Given the description of an element on the screen output the (x, y) to click on. 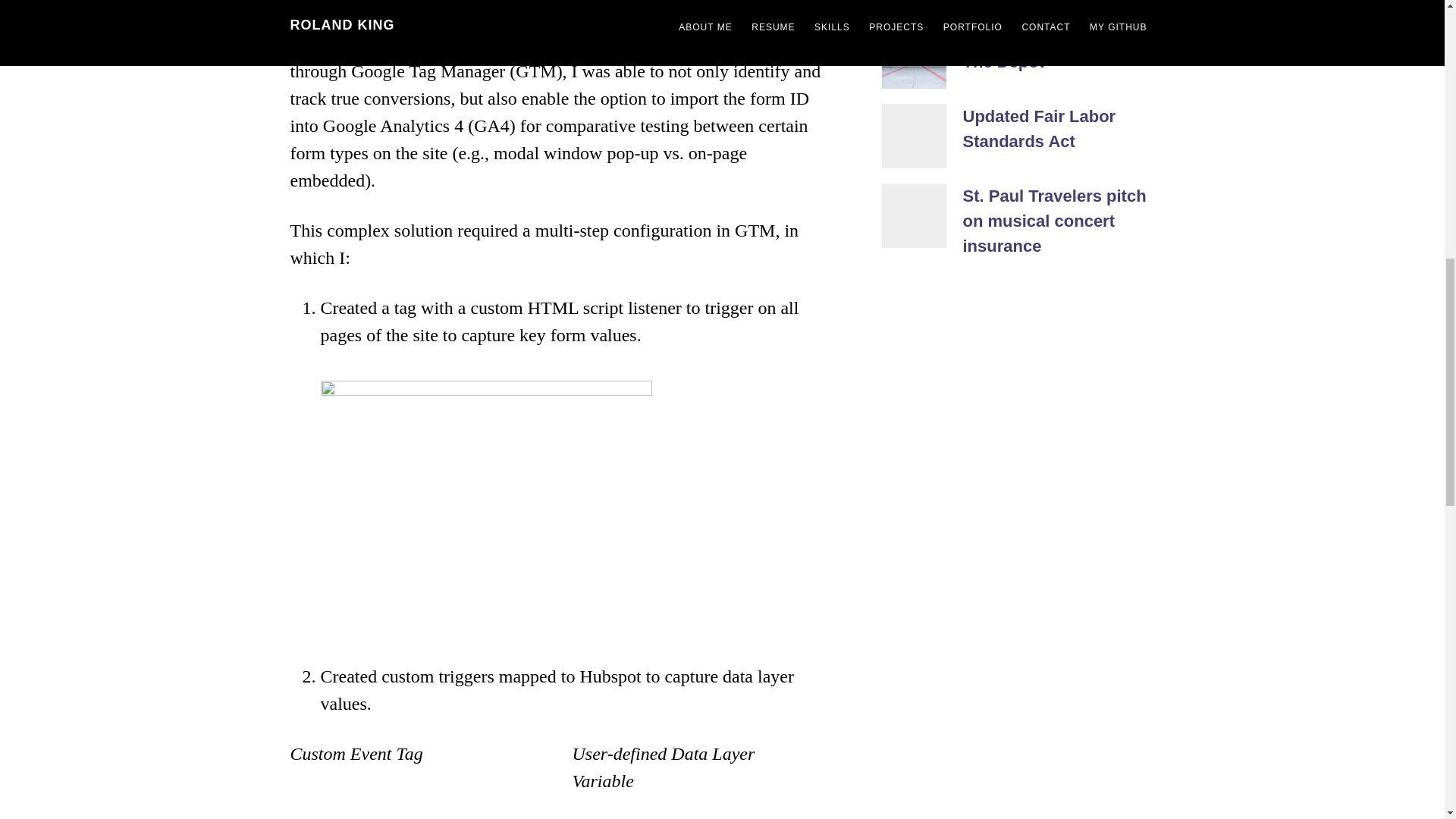
From cups to coolers: The Depot (1050, 49)
Updated Fair Labor Standards Act (1039, 128)
St. Paul Travelers pitch on musical concert insurance (1054, 220)
